Given the description of an element on the screen output the (x, y) to click on. 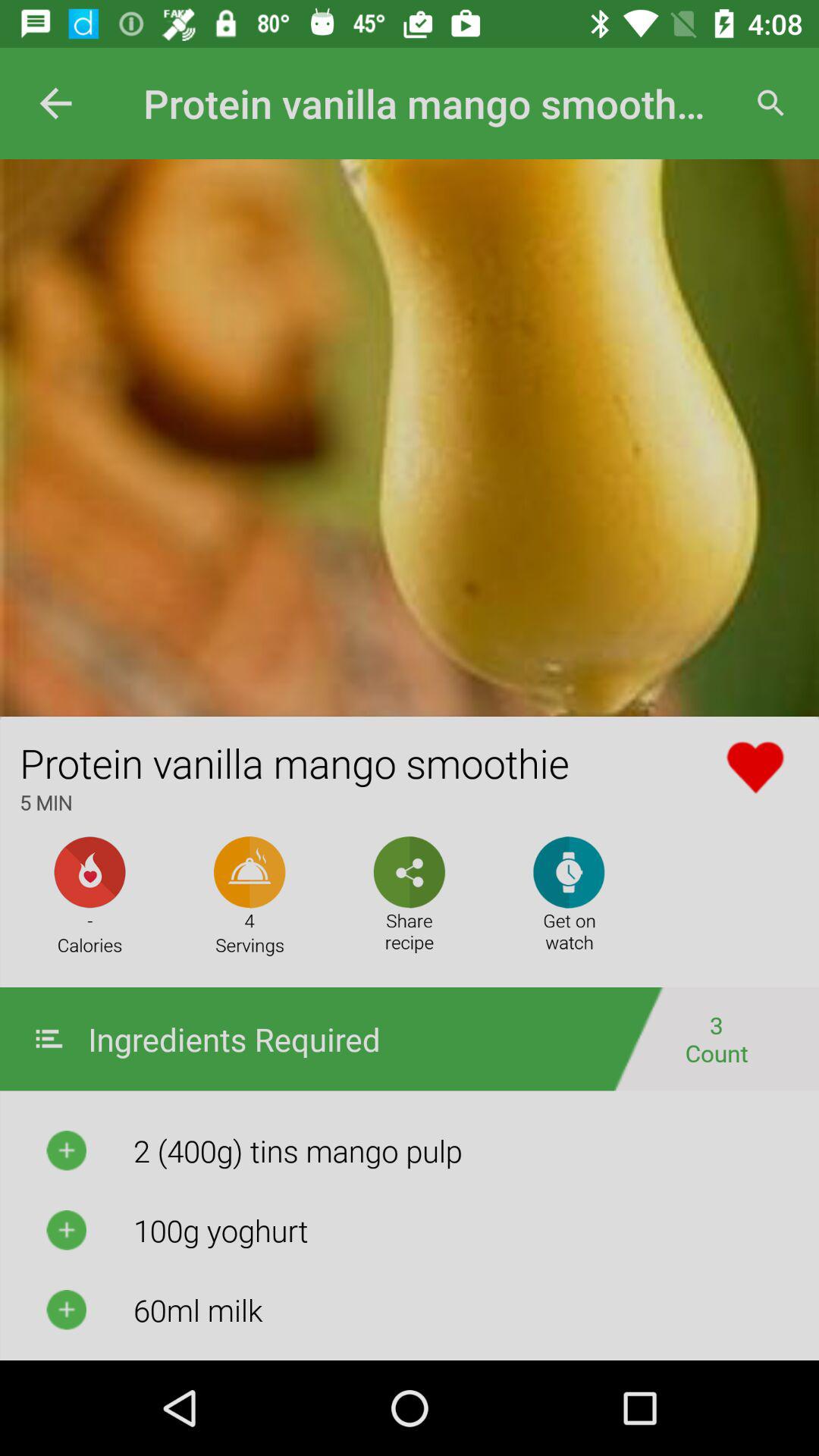
select the share icon (409, 871)
